Given the description of an element on the screen output the (x, y) to click on. 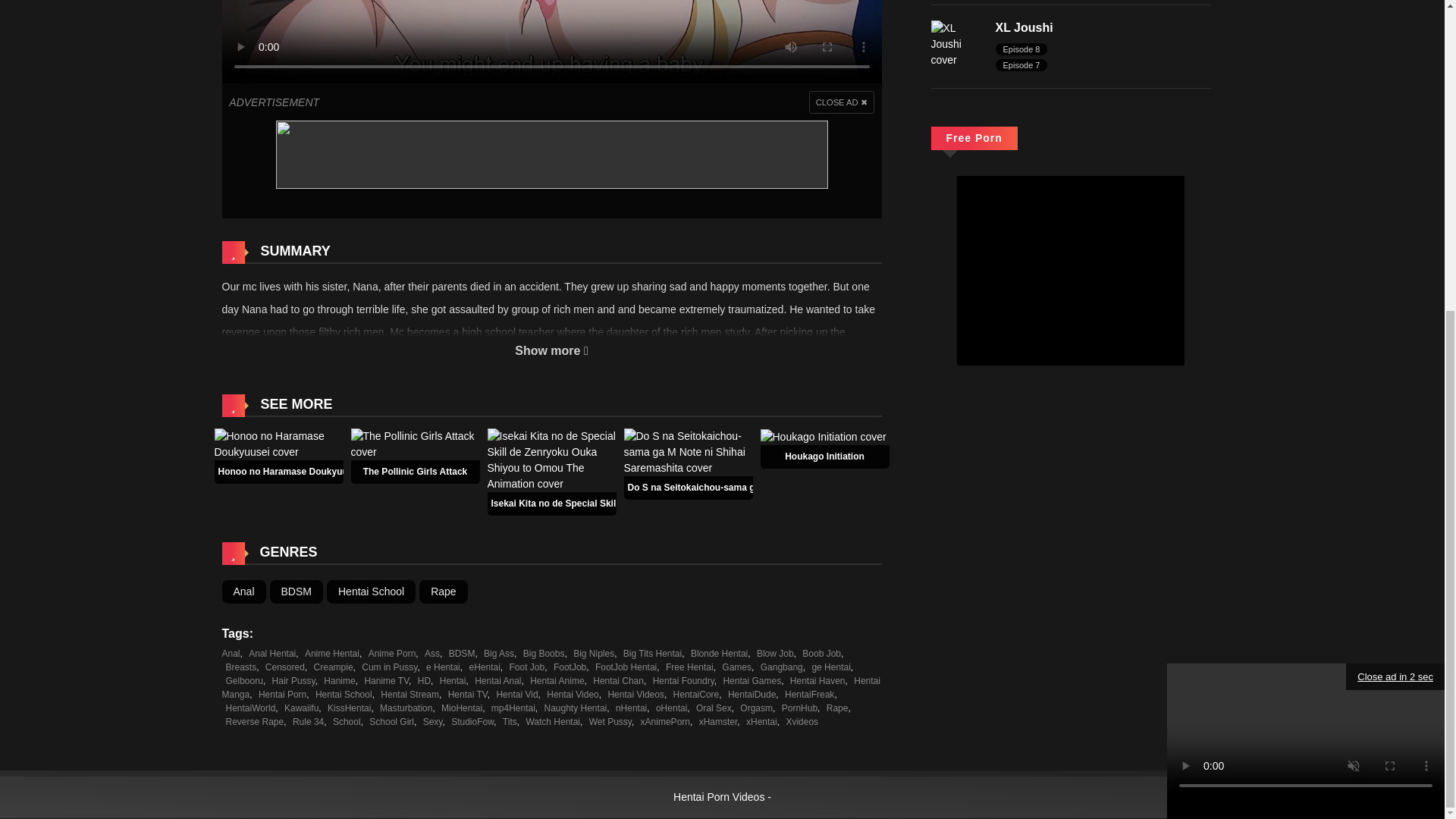
The Pollinic Girls Attack (414, 443)
Honoo no Haramase Doukyuusei (289, 471)
XL Joushi (1023, 27)
Honoo no Haramase Doukyuusei (289, 471)
Anal (242, 591)
The Pollinic Girls Attack (414, 471)
Rape (443, 591)
Do S na Seitokaichou-sama ga M Note ni Shihai Saremashita (687, 451)
